Given the description of an element on the screen output the (x, y) to click on. 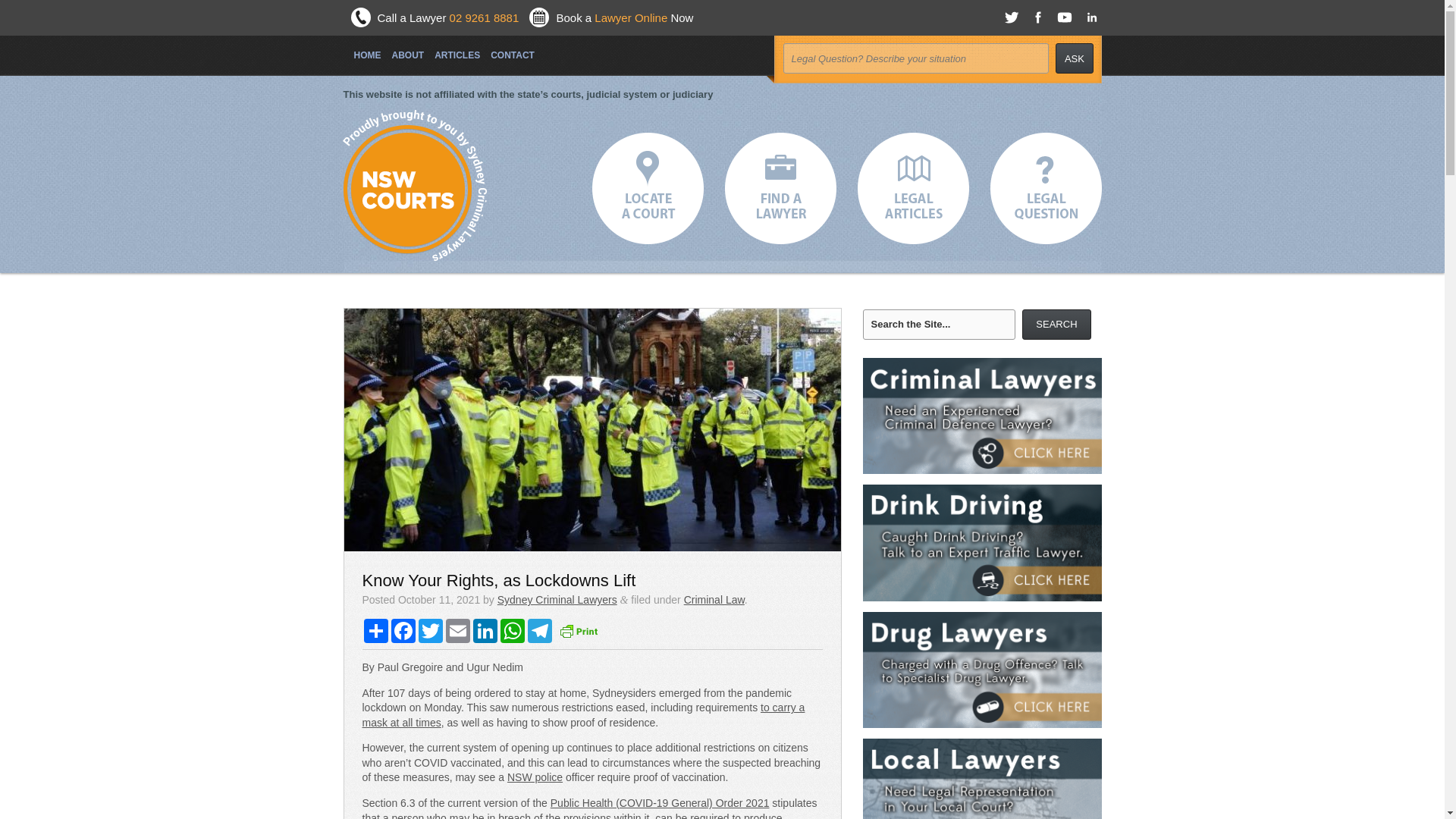
Sydney Criminal Lawyers (557, 599)
Ask (1074, 58)
Telegram (539, 630)
Book a Lawyer Online Now (624, 17)
Email (457, 630)
CONTACT (507, 49)
Share (376, 630)
WhatsApp (512, 630)
Facebook (403, 630)
Twitter (430, 630)
Posts by Sydney Criminal Lawyers (557, 599)
ARTICLES (451, 49)
HOME (361, 49)
